Given the description of an element on the screen output the (x, y) to click on. 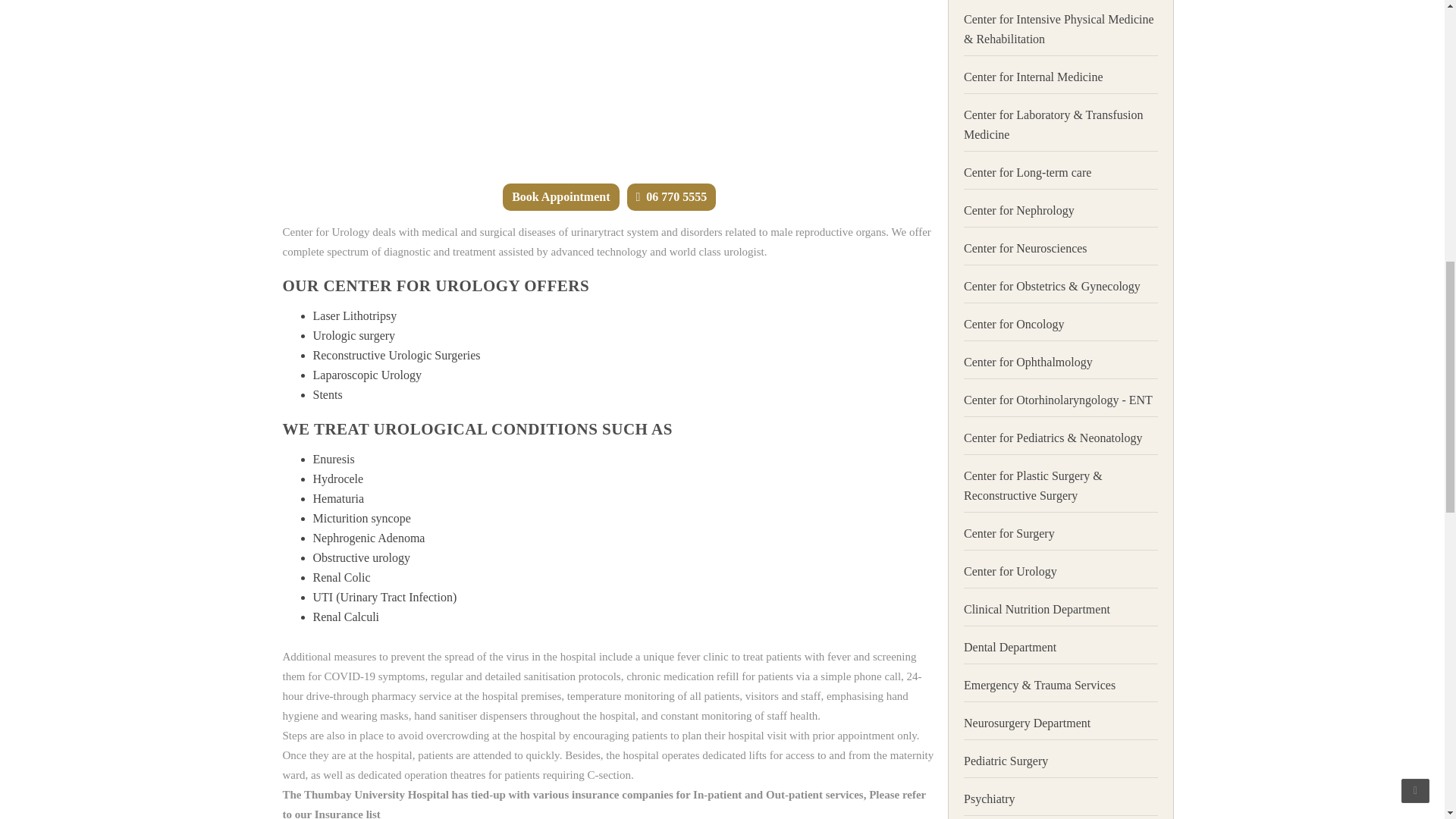
YouTube video player (606, 84)
